Given the description of an element on the screen output the (x, y) to click on. 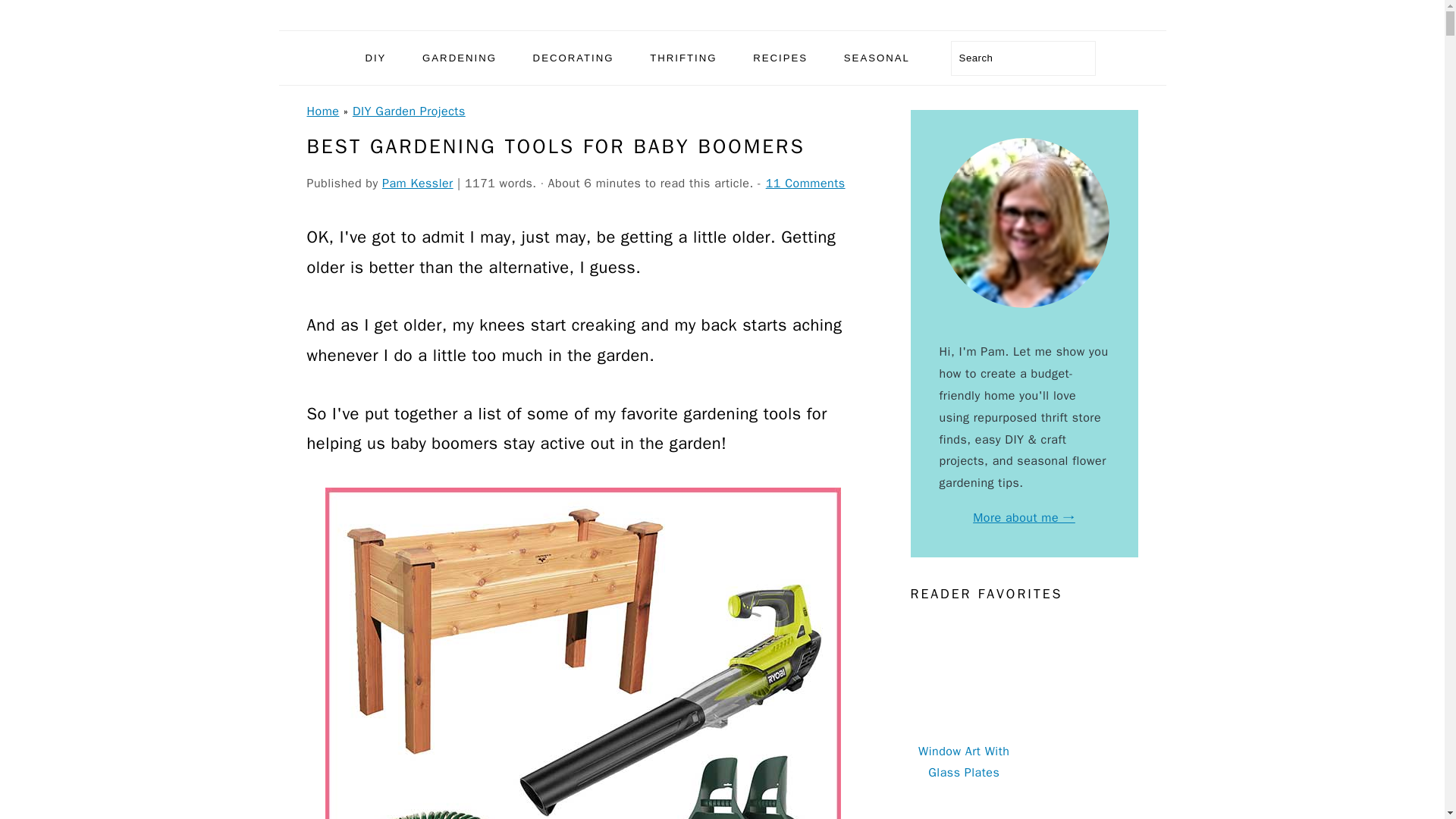
SEASONAL (877, 58)
GARDENING (459, 58)
11 Comments (805, 183)
THRIFTING (682, 58)
DIY Garden Projects (408, 111)
Home (322, 111)
RECIPES (780, 58)
House of Hawthornes (722, 14)
